Given the description of an element on the screen output the (x, y) to click on. 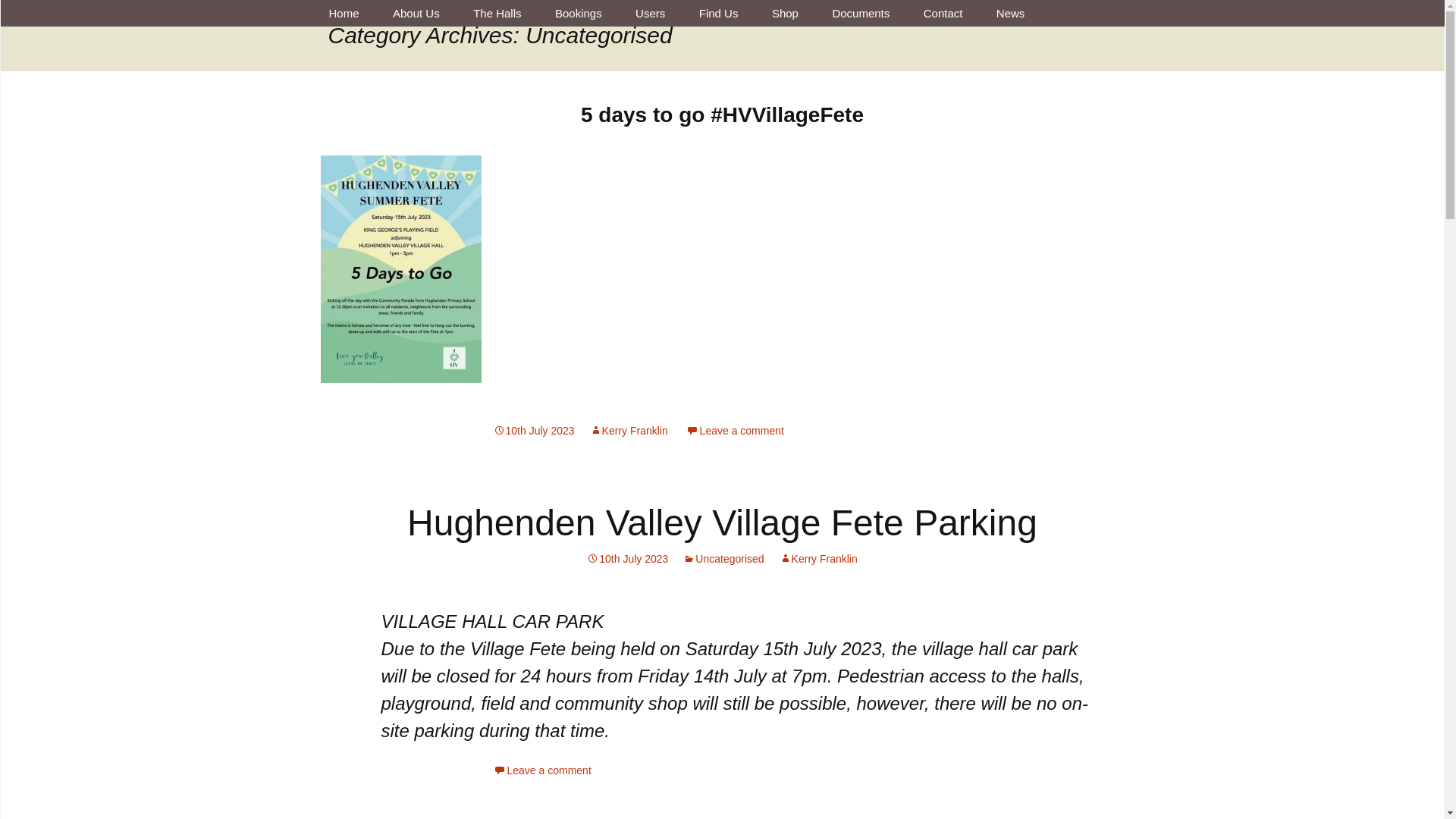
About Us (415, 13)
Find Us (719, 13)
Contact (943, 13)
Permalink to Hughenden Valley Village Fete Parking (627, 558)
Shop (785, 13)
Uncategorised (722, 558)
Leave a comment (734, 430)
Bookings (578, 13)
10th July 2023 (533, 430)
Committee Meeting Minutes 2012 (892, 45)
